Given the description of an element on the screen output the (x, y) to click on. 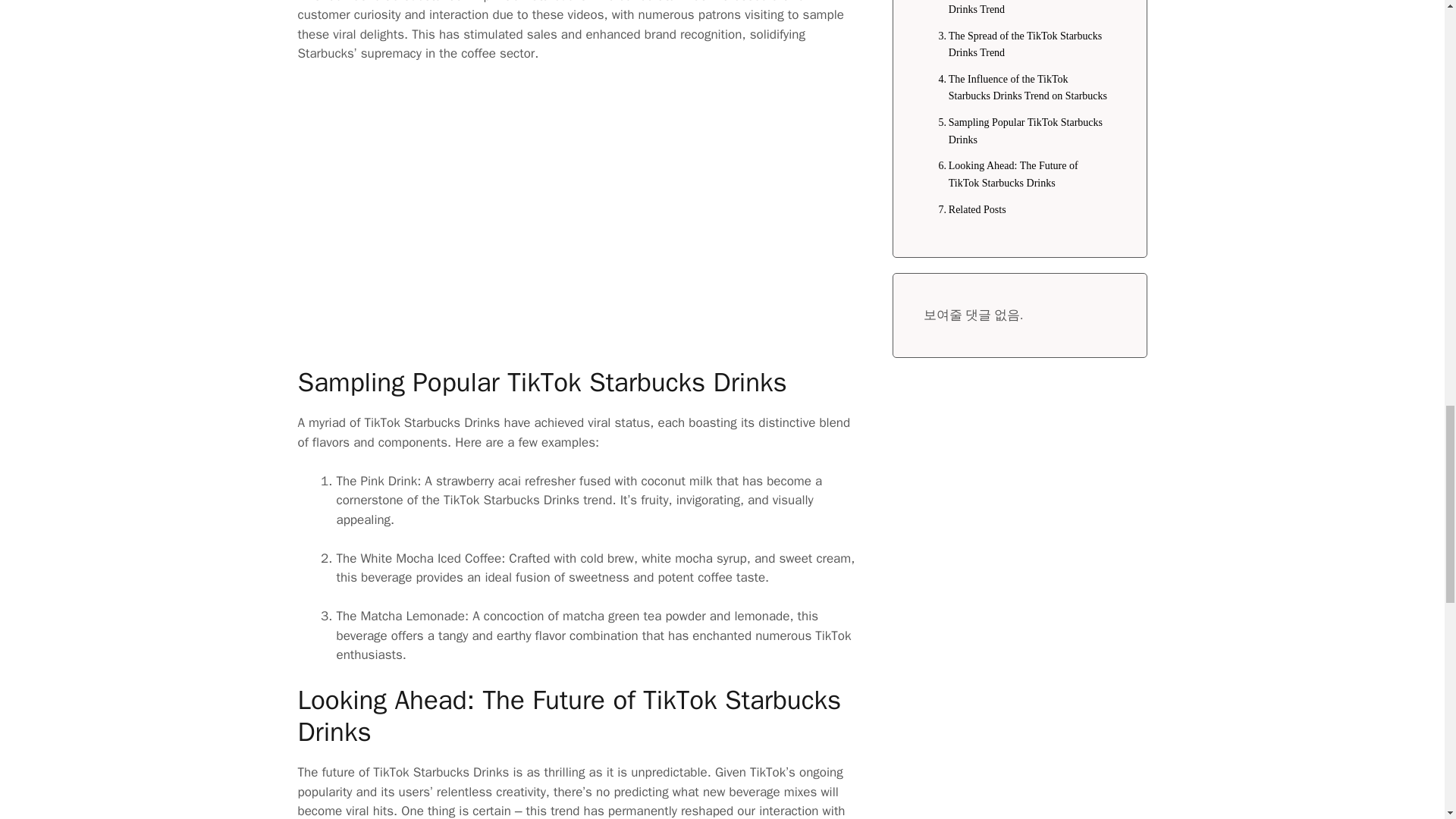
Sampling Popular TikTok Starbucks Drinks (1019, 131)
The Spread of the TikTok Starbucks Drinks Trend (1019, 44)
Related Posts (968, 209)
Looking Ahead: The Future of TikTok Starbucks Drinks (1019, 174)
Origins of the TikTok Starbucks Drinks Trend (1019, 9)
